Given the description of an element on the screen output the (x, y) to click on. 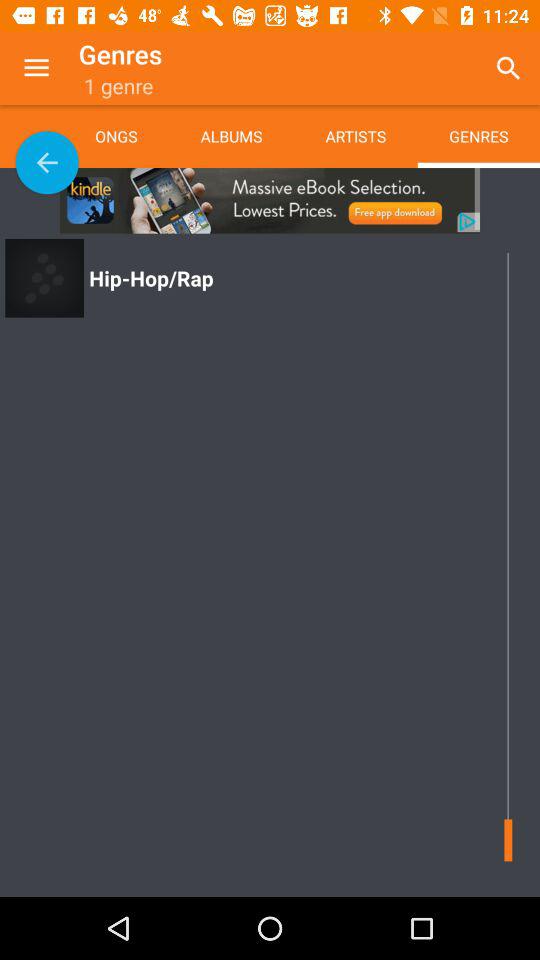
turn off the icon to the left of the genres (355, 136)
